Given the description of an element on the screen output the (x, y) to click on. 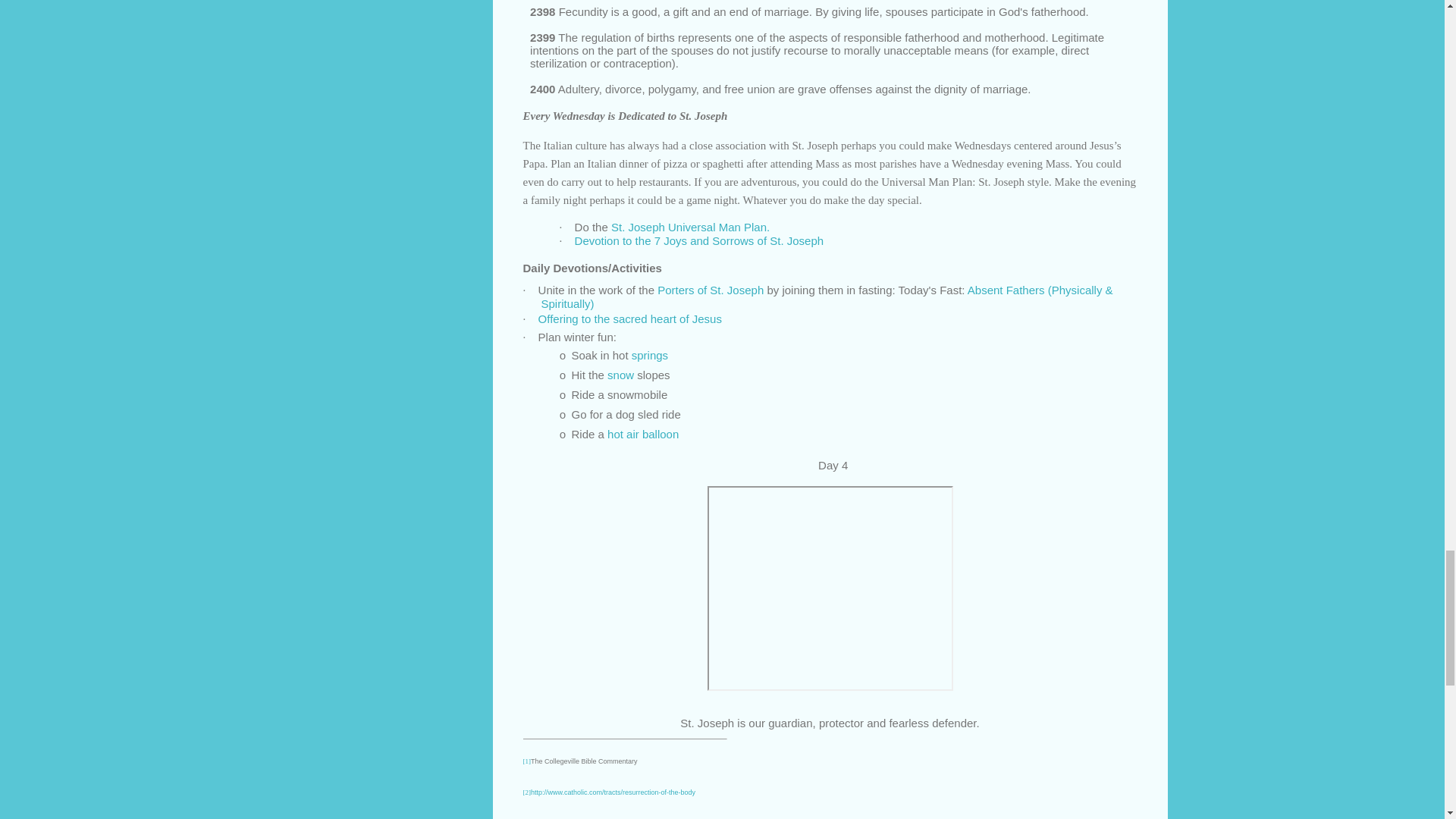
hot air balloon (642, 433)
Offering to the sacred heart of Jesus (630, 318)
Devotion to the 7 Joys and Sorrows of St. Joseph (699, 240)
Porters of St. Joseph (710, 289)
springs (649, 354)
snow (620, 374)
St. Joseph Universal Man Plan. (690, 226)
